Given the description of an element on the screen output the (x, y) to click on. 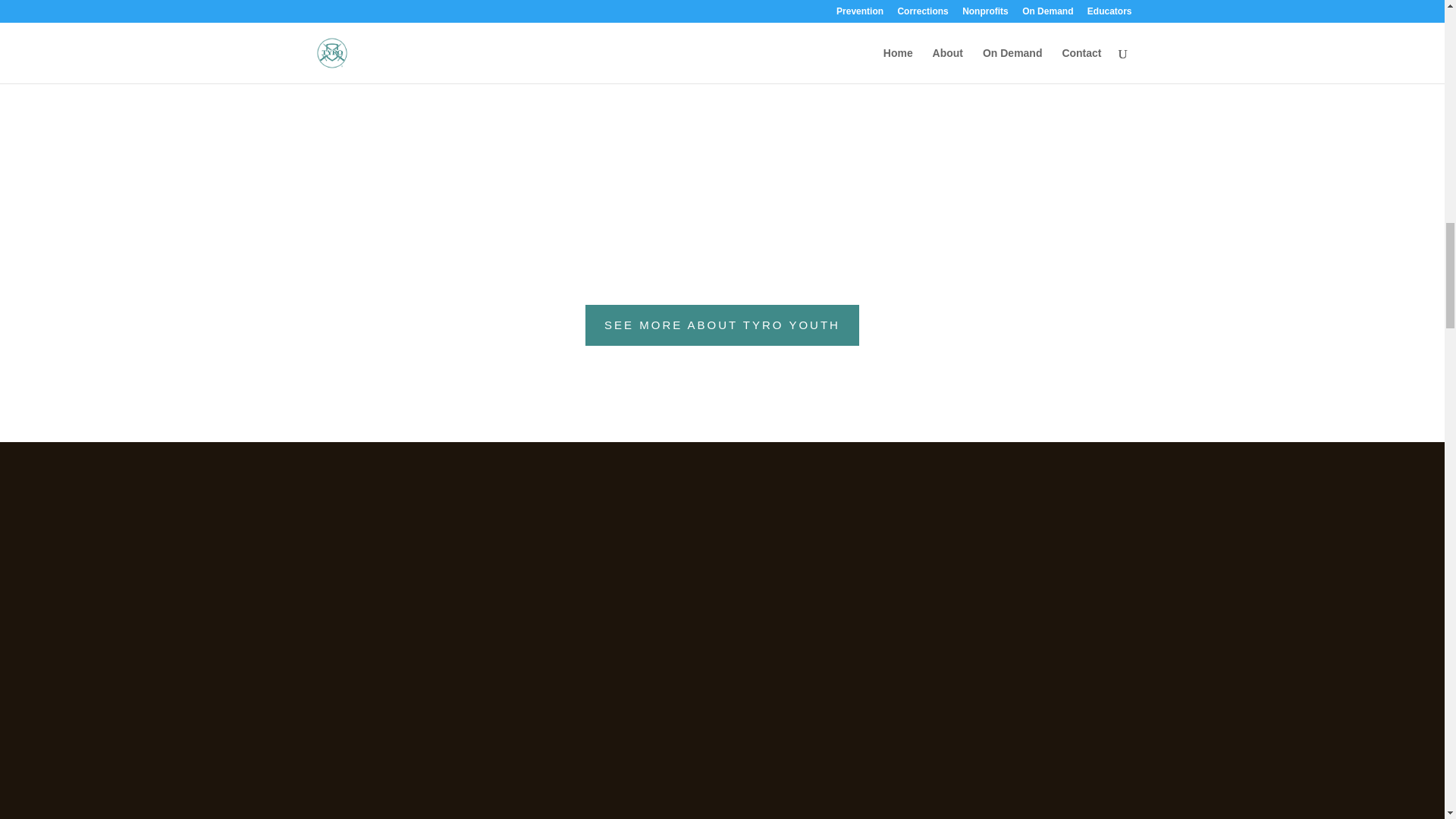
SEE MORE ABOUT TYRO YOUTH (722, 325)
